Given the description of an element on the screen output the (x, y) to click on. 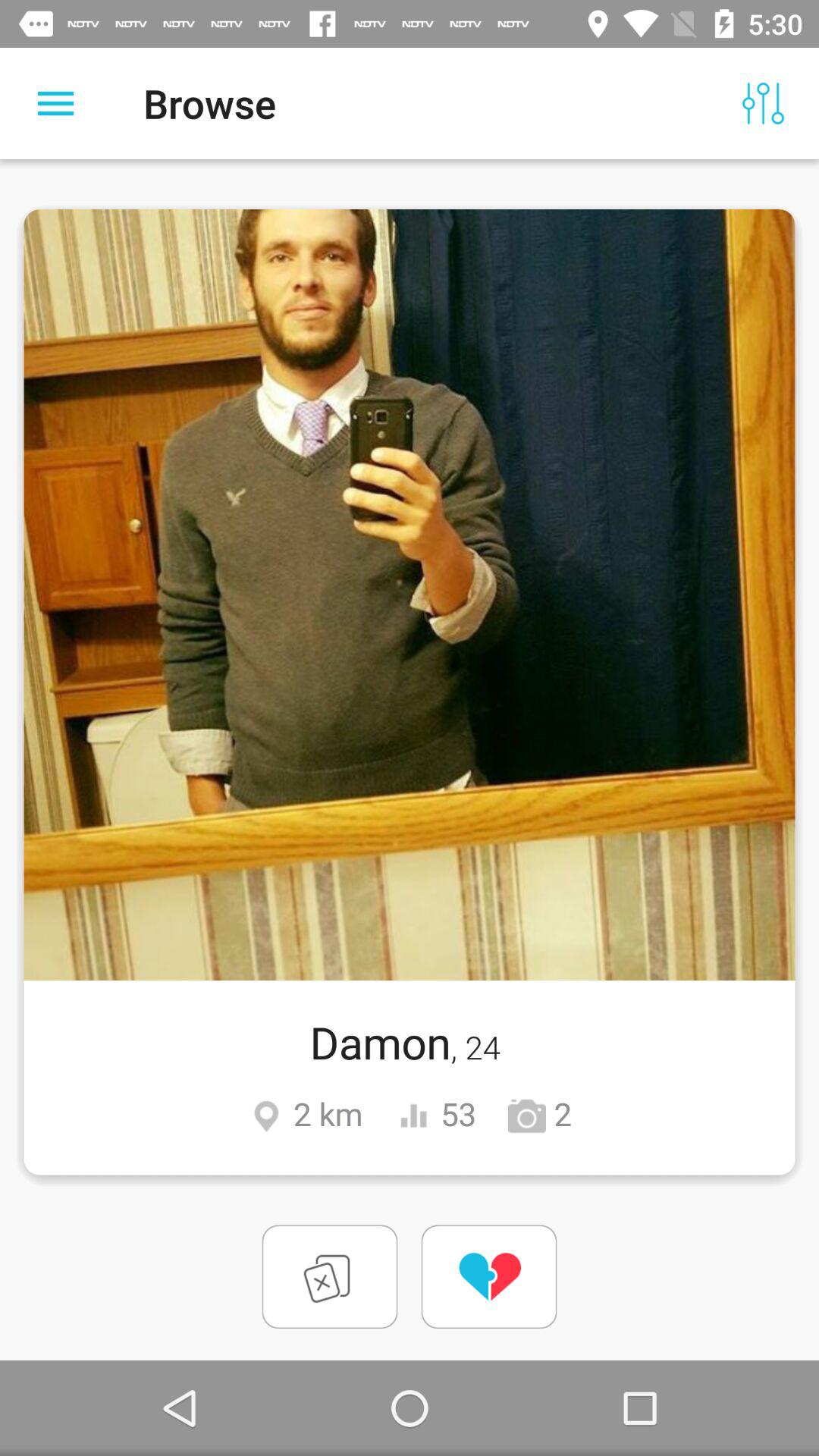
menu (55, 103)
